Given the description of an element on the screen output the (x, y) to click on. 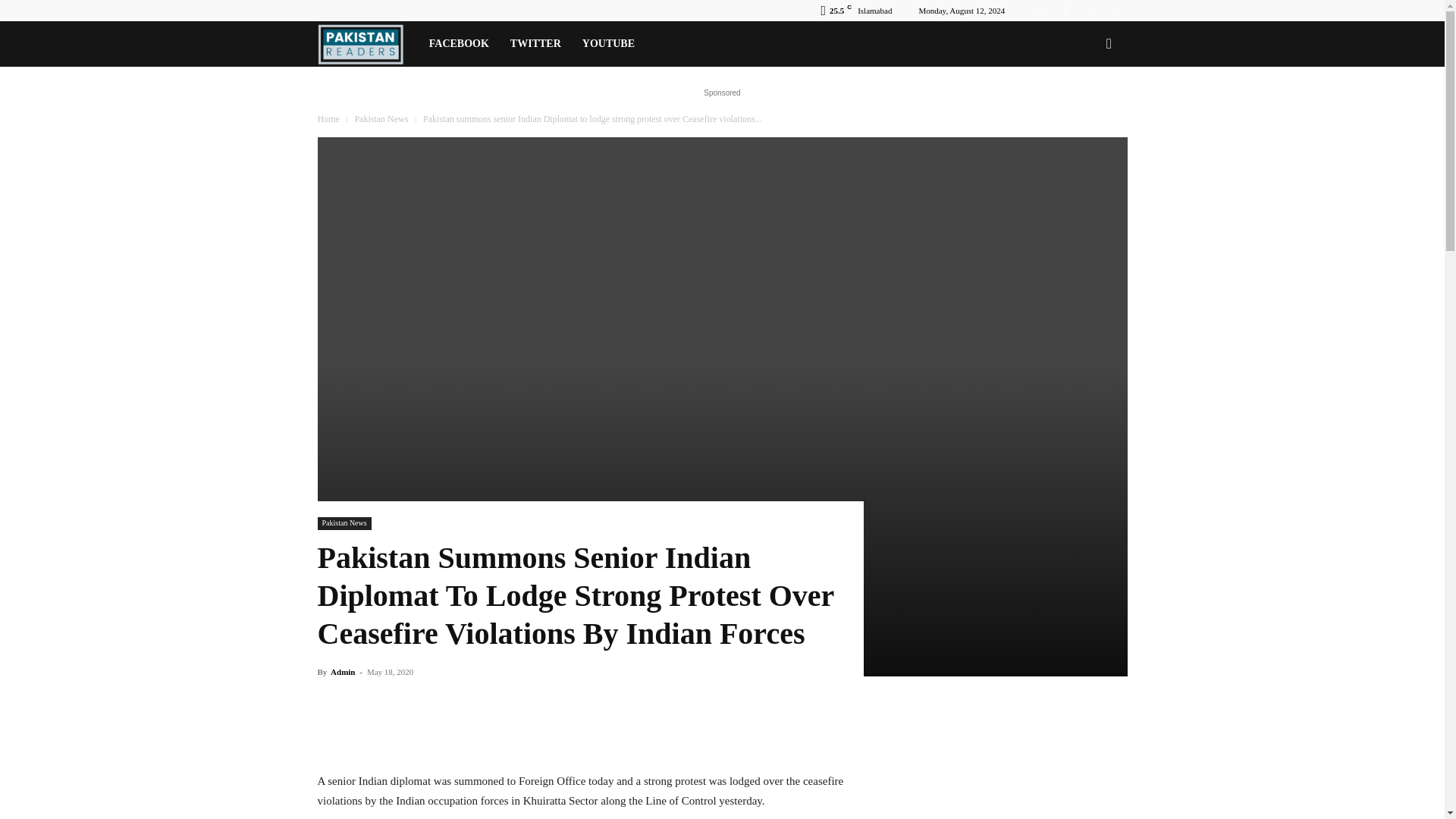
Search (1085, 109)
Facebook (1040, 10)
FACEBOOK (459, 43)
Home (328, 118)
YOUTUBE (608, 43)
Pakistan Readers (367, 44)
Pakistan News (380, 118)
Twitter (1090, 10)
Admin (342, 671)
View all posts in Pakistan News (380, 118)
